Given the description of an element on the screen output the (x, y) to click on. 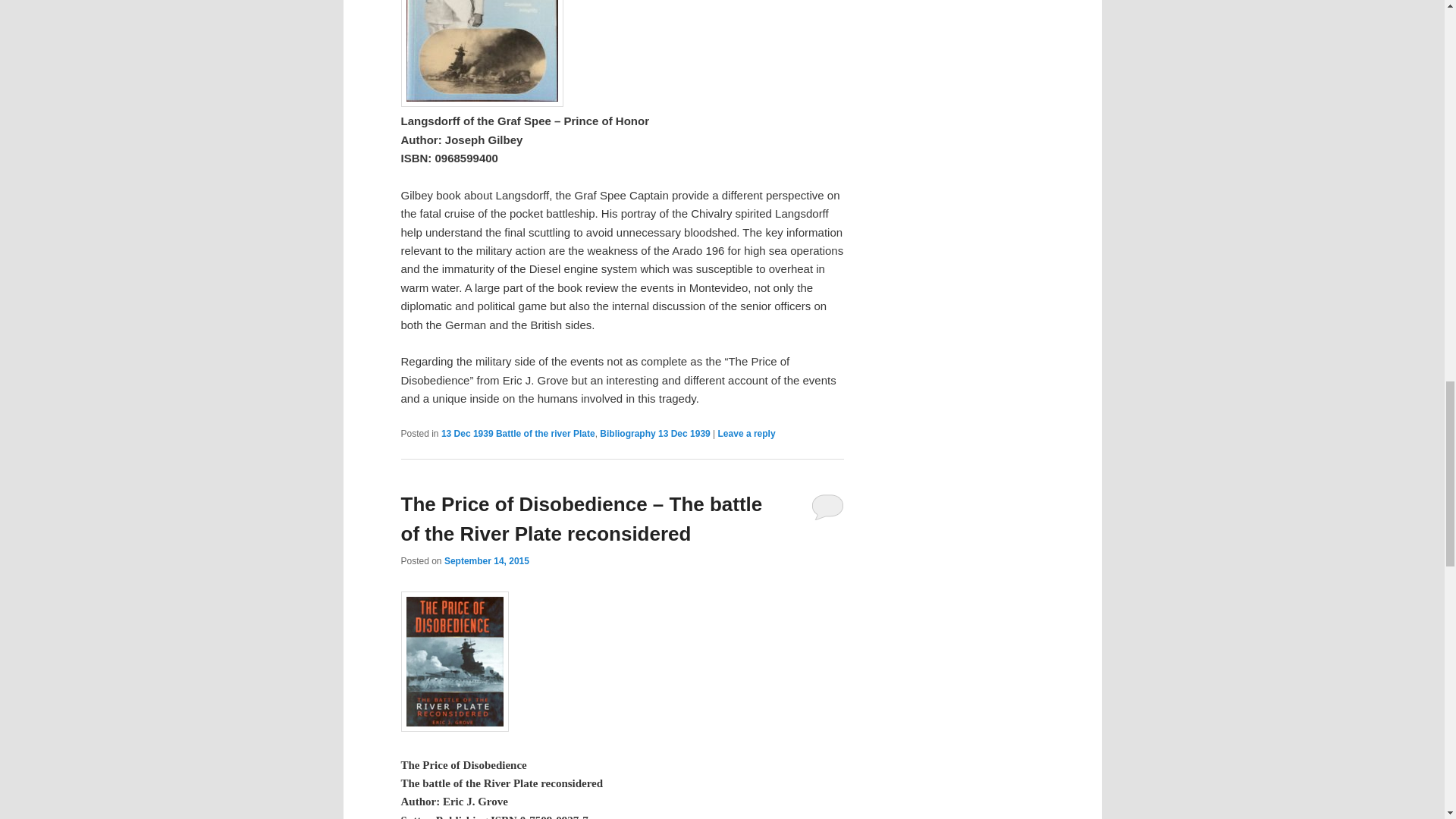
11:26 pm (486, 561)
September 14, 2015 (486, 561)
Leave a reply (746, 433)
Bibliography 13 Dec 1939 (654, 433)
13 Dec 1939 Battle of the river Plate (518, 433)
